Given the description of an element on the screen output the (x, y) to click on. 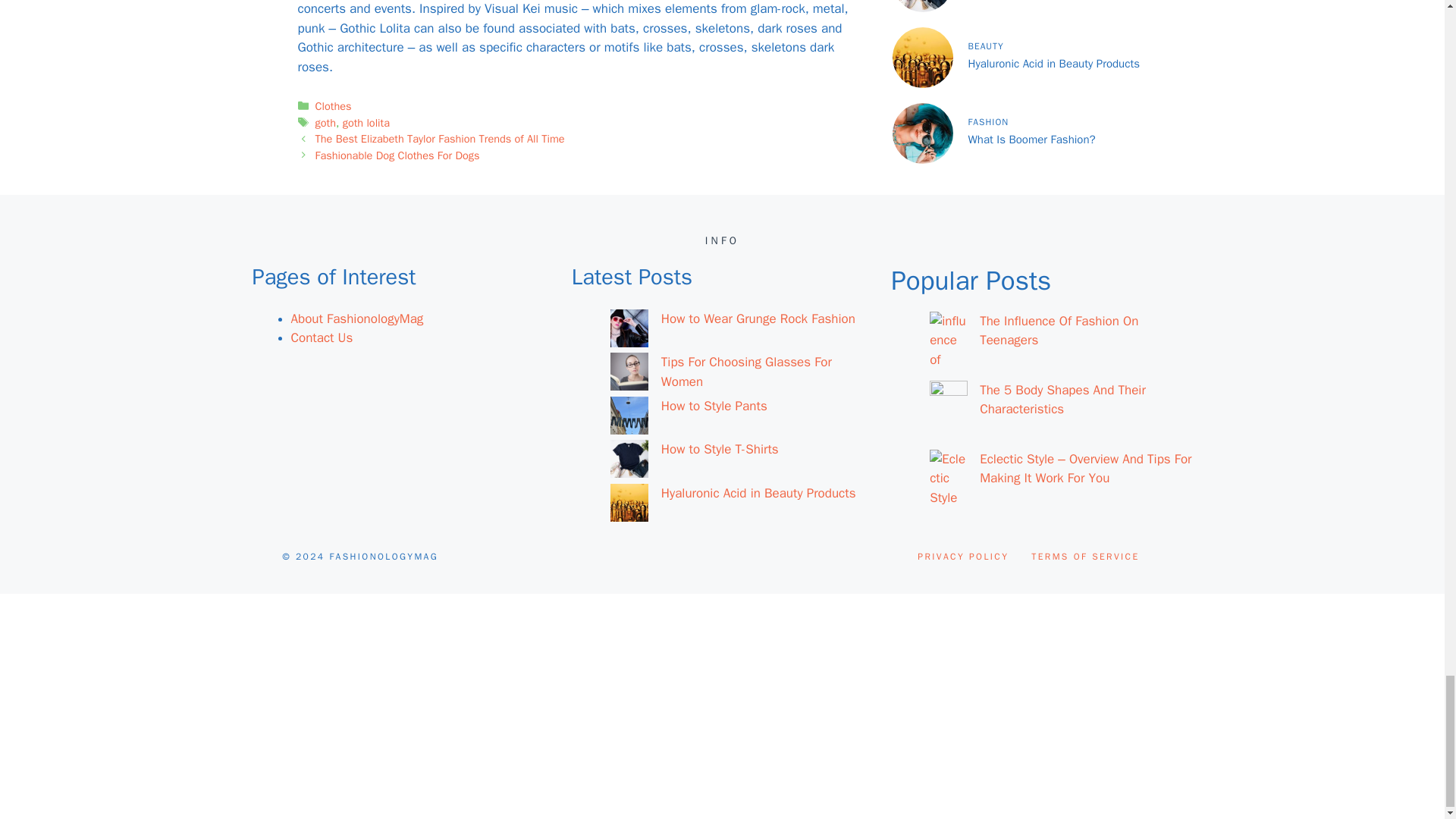
How to Wear Grunge Rock Fashion (758, 318)
goth (325, 122)
goth lolita (366, 122)
The Best Elizabeth Taylor Fashion Trends of All Time (439, 138)
Clothes (333, 106)
Contact Us (322, 337)
About FashionologyMag (357, 318)
Fashionable Dog Clothes For Dogs (397, 155)
